Given the description of an element on the screen output the (x, y) to click on. 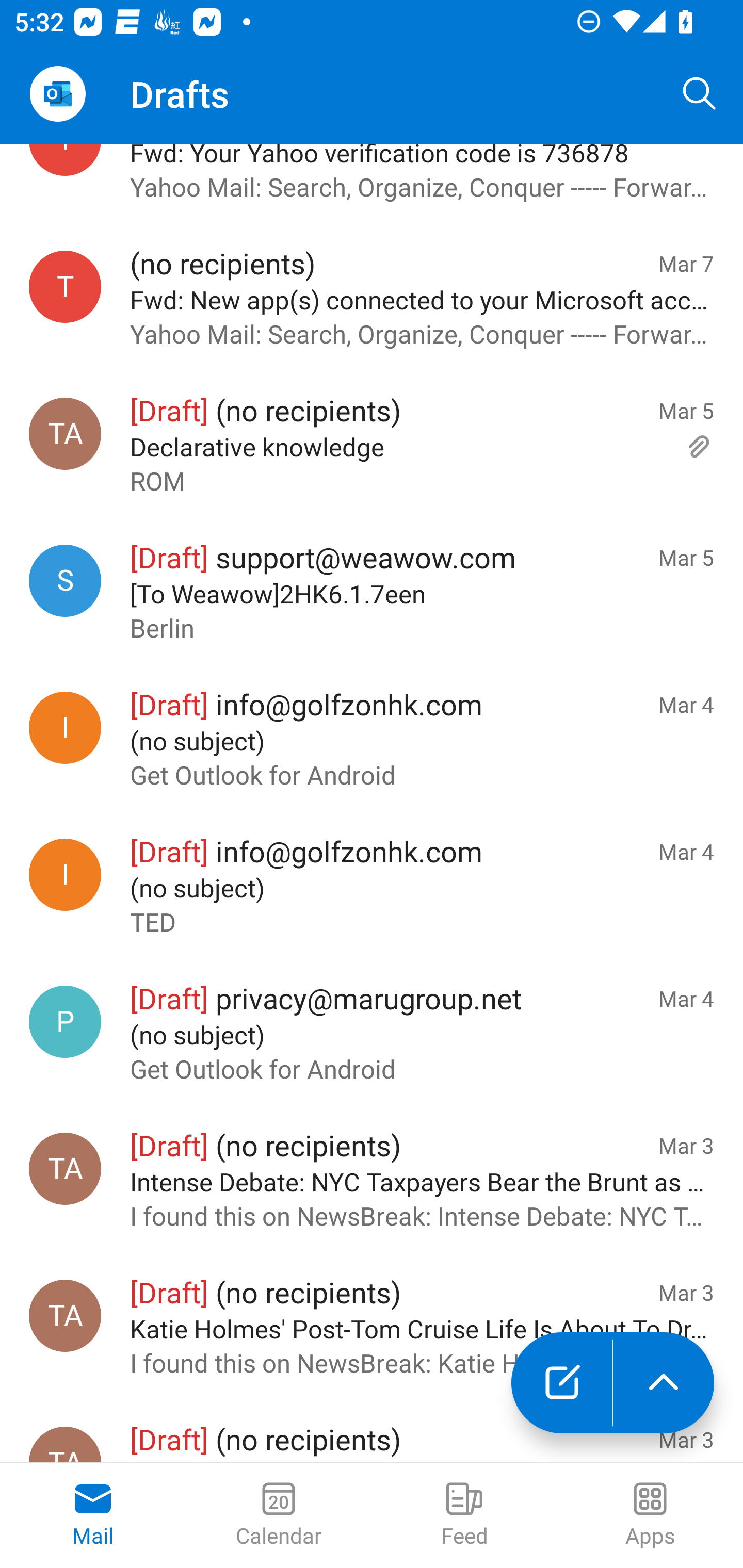
Search, ,  (699, 93)
Open Navigation Drawer (57, 94)
testappium002@outlook.com (64, 286)
Test Appium, testappium002@outlook.com (64, 434)
support@weawow.com (64, 580)
info@golfzonhk.com (64, 727)
info@golfzonhk.com (64, 874)
privacy@marugroup.net (64, 1022)
Test Appium, testappium002@outlook.com (64, 1168)
Test Appium, testappium002@outlook.com (64, 1315)
New mail (561, 1382)
launch the extended action menu (663, 1382)
Calendar (278, 1515)
Feed (464, 1515)
Apps (650, 1515)
